Given the description of an element on the screen output the (x, y) to click on. 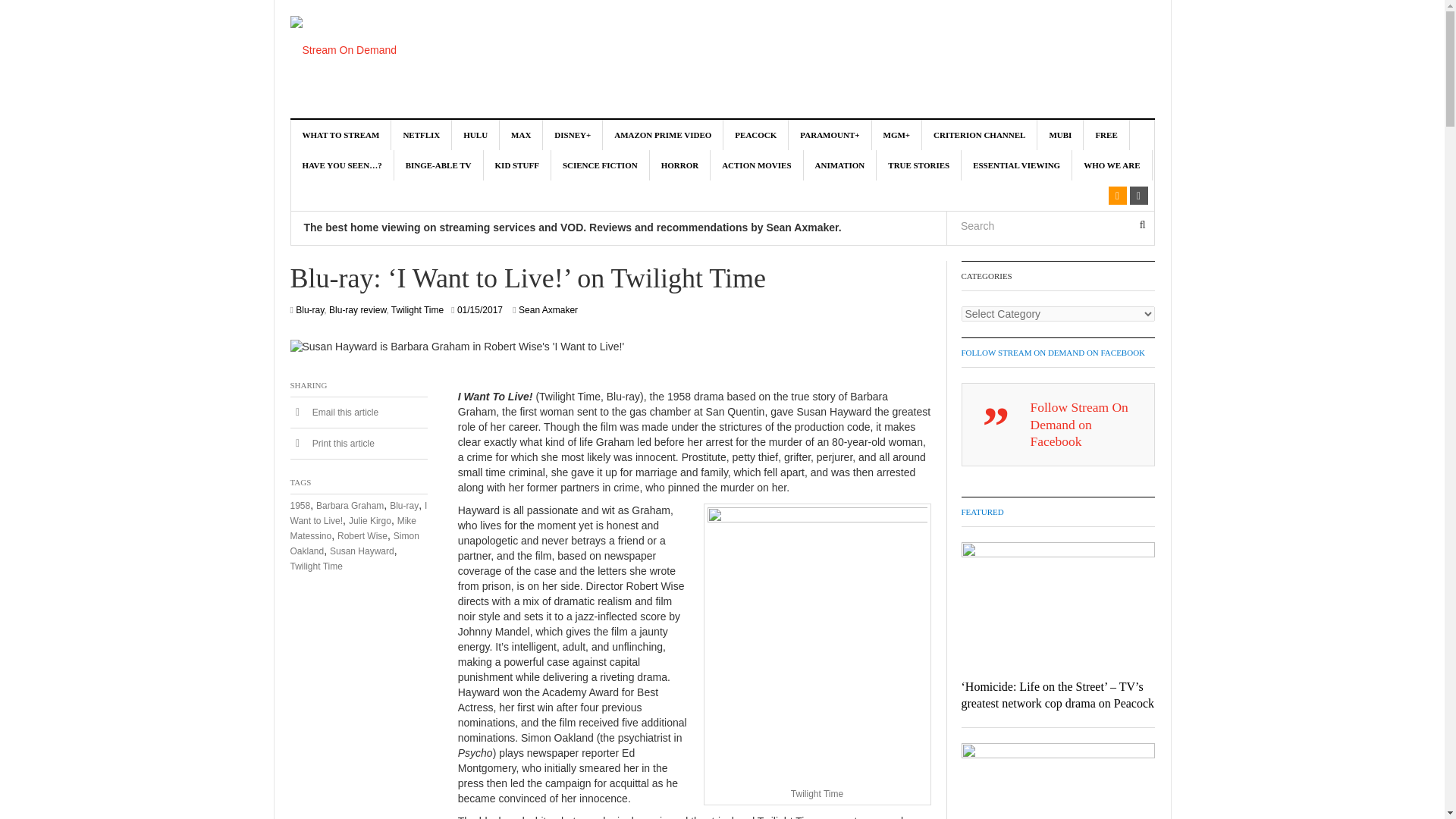
Stream On Demand (342, 49)
TRUE STORIES (918, 164)
AMAZON PRIME VIDEO (662, 134)
Sean Axmaker (548, 309)
Twilight Time (417, 309)
HULU (475, 134)
PEACOCK (756, 134)
ESSENTIAL VIEWING (1015, 164)
ANIMATION (840, 164)
WHAT TO STREAM (341, 134)
